Given the description of an element on the screen output the (x, y) to click on. 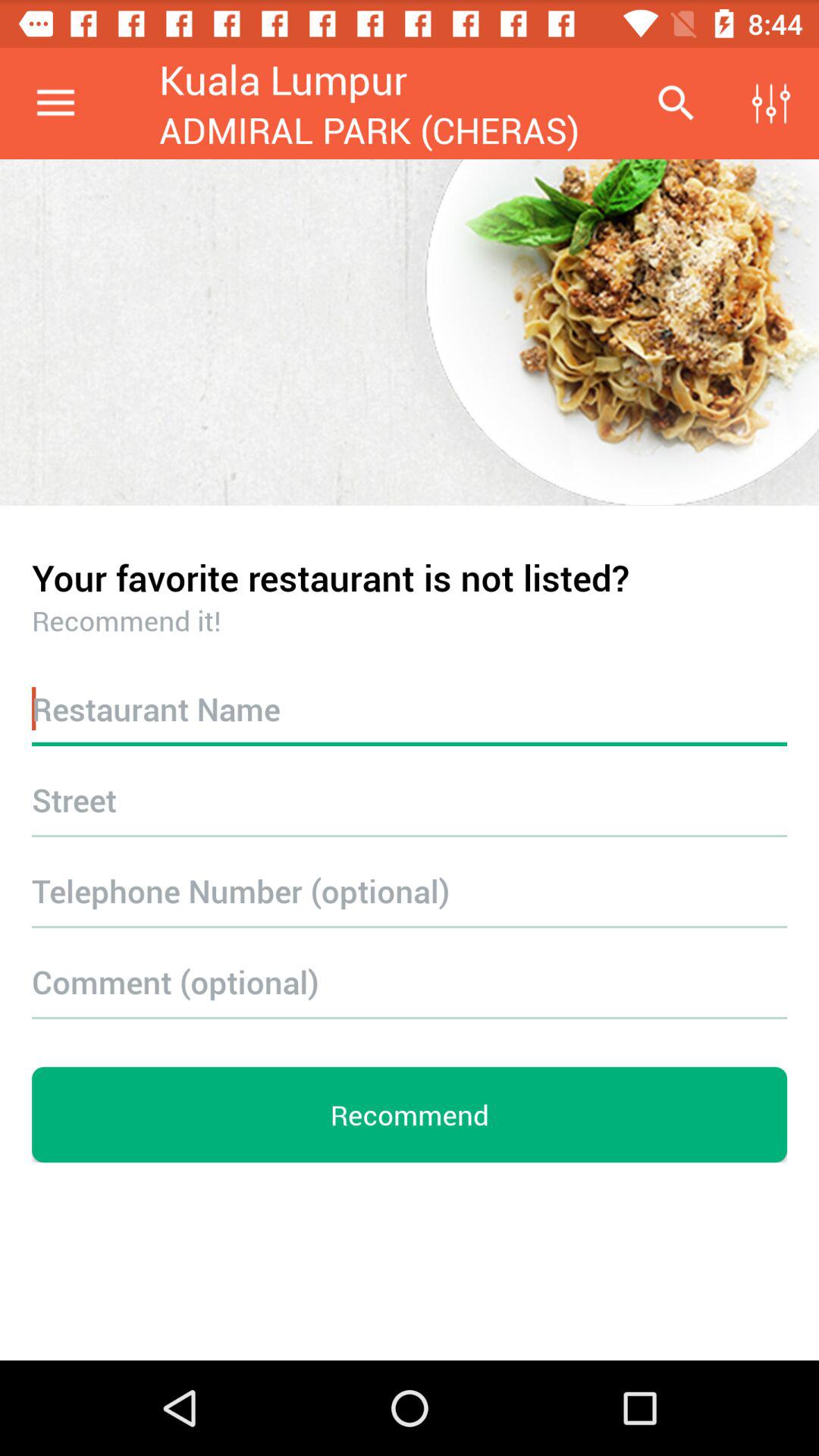
press icon next to kuala lumpur icon (675, 103)
